Given the description of an element on the screen output the (x, y) to click on. 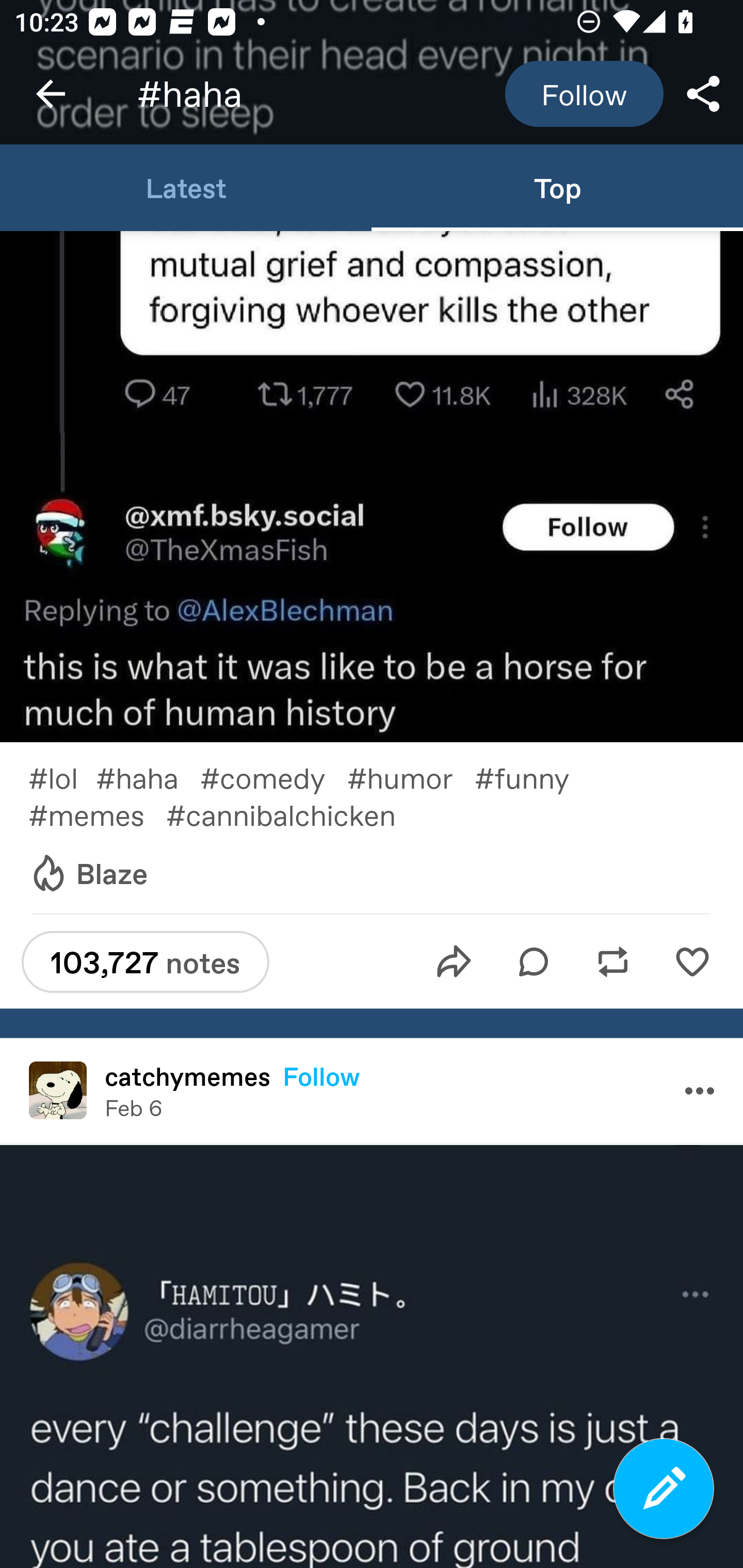
Navigate up (50, 93)
Follow (584, 94)
Latest (185, 187)
#lol (61, 777)
#haha (147, 777)
#comedy (272, 777)
#humor (410, 777)
#funny (533, 777)
#memes (97, 814)
#cannibalchicken (295, 814)
Blaze Blaze Blaze (88, 873)
Share post to message (454, 961)
Reply (533, 961)
Reblog (612, 961)
Like (691, 961)
103,727 notes (144, 961)
Follow (321, 1075)
Compose a new post (663, 1488)
